Given the description of an element on the screen output the (x, y) to click on. 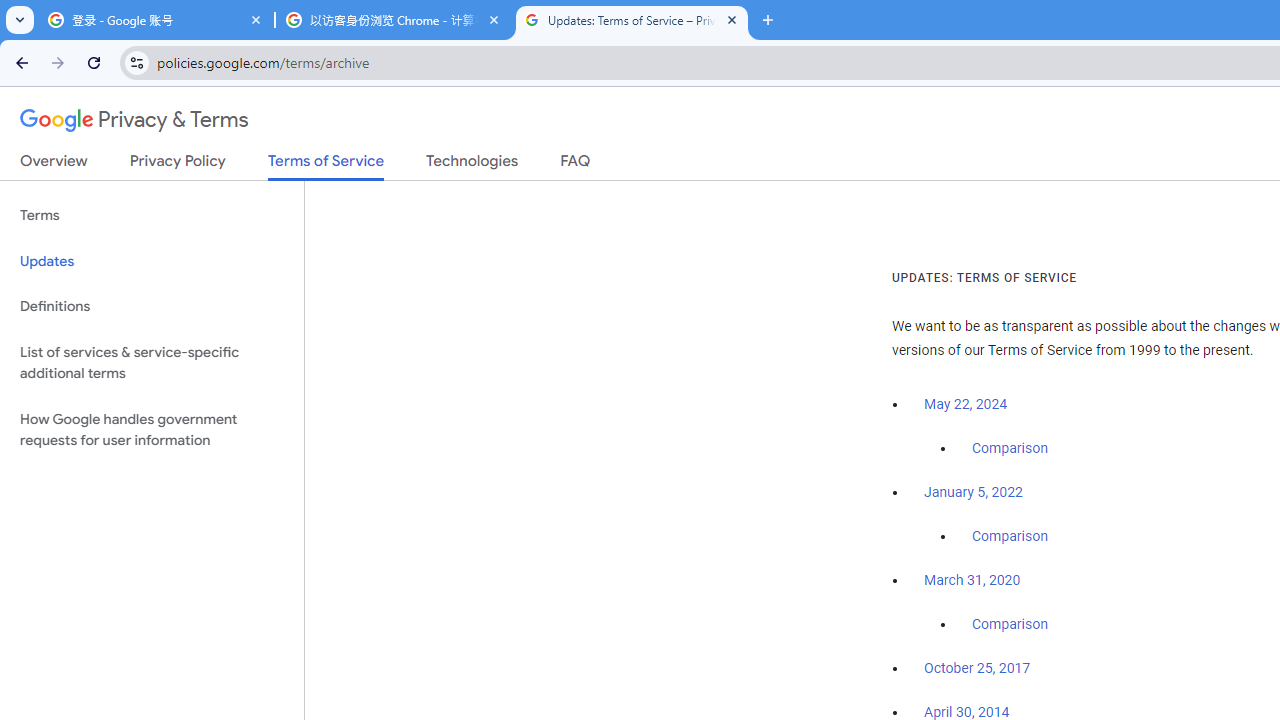
March 31, 2020 (972, 580)
How Google handles government requests for user information (152, 429)
May 22, 2024 (966, 404)
